Given the description of an element on the screen output the (x, y) to click on. 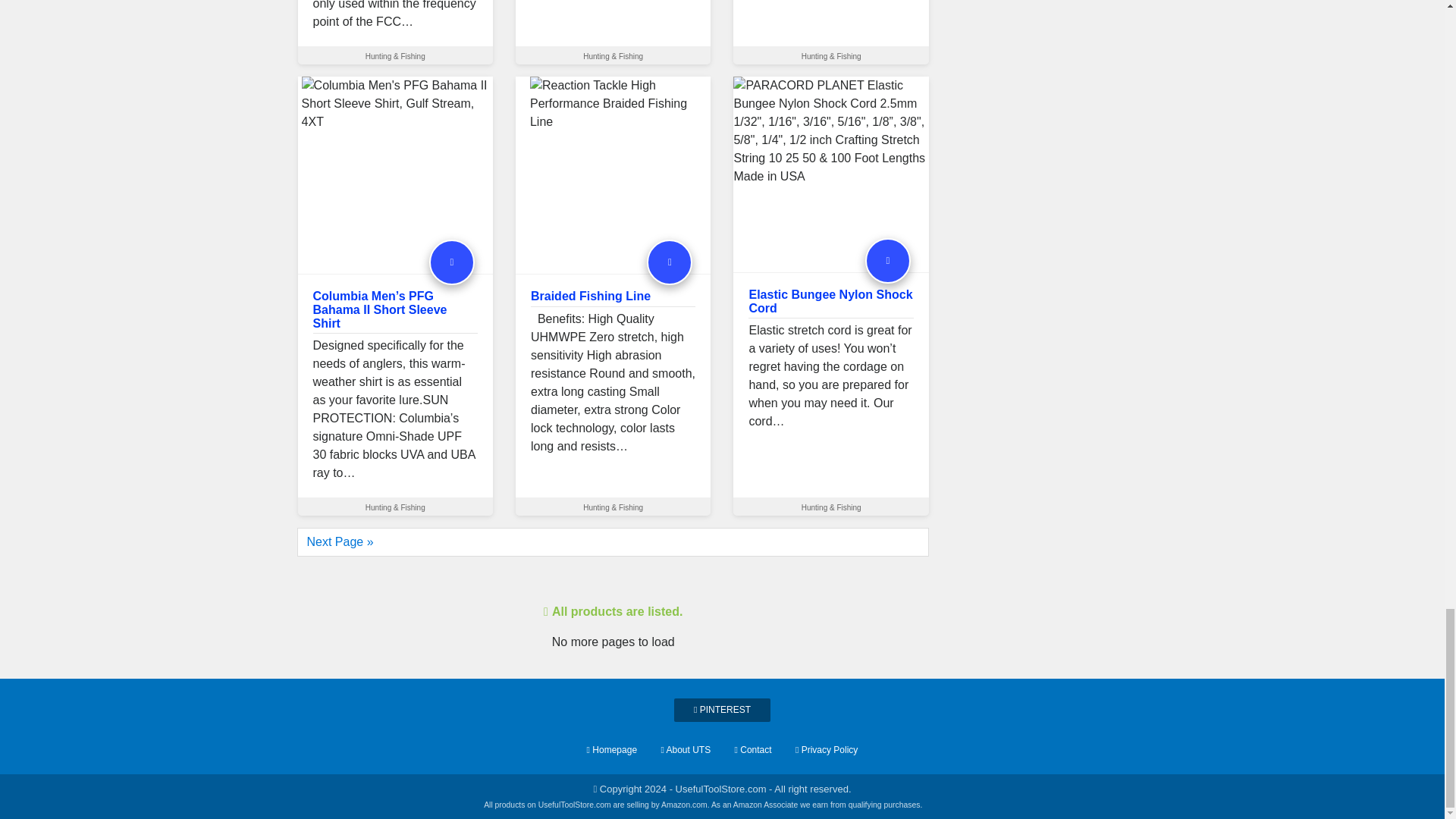
All products are listed. (612, 611)
No more pages to load (612, 603)
Loading... (612, 642)
